Given the description of an element on the screen output the (x, y) to click on. 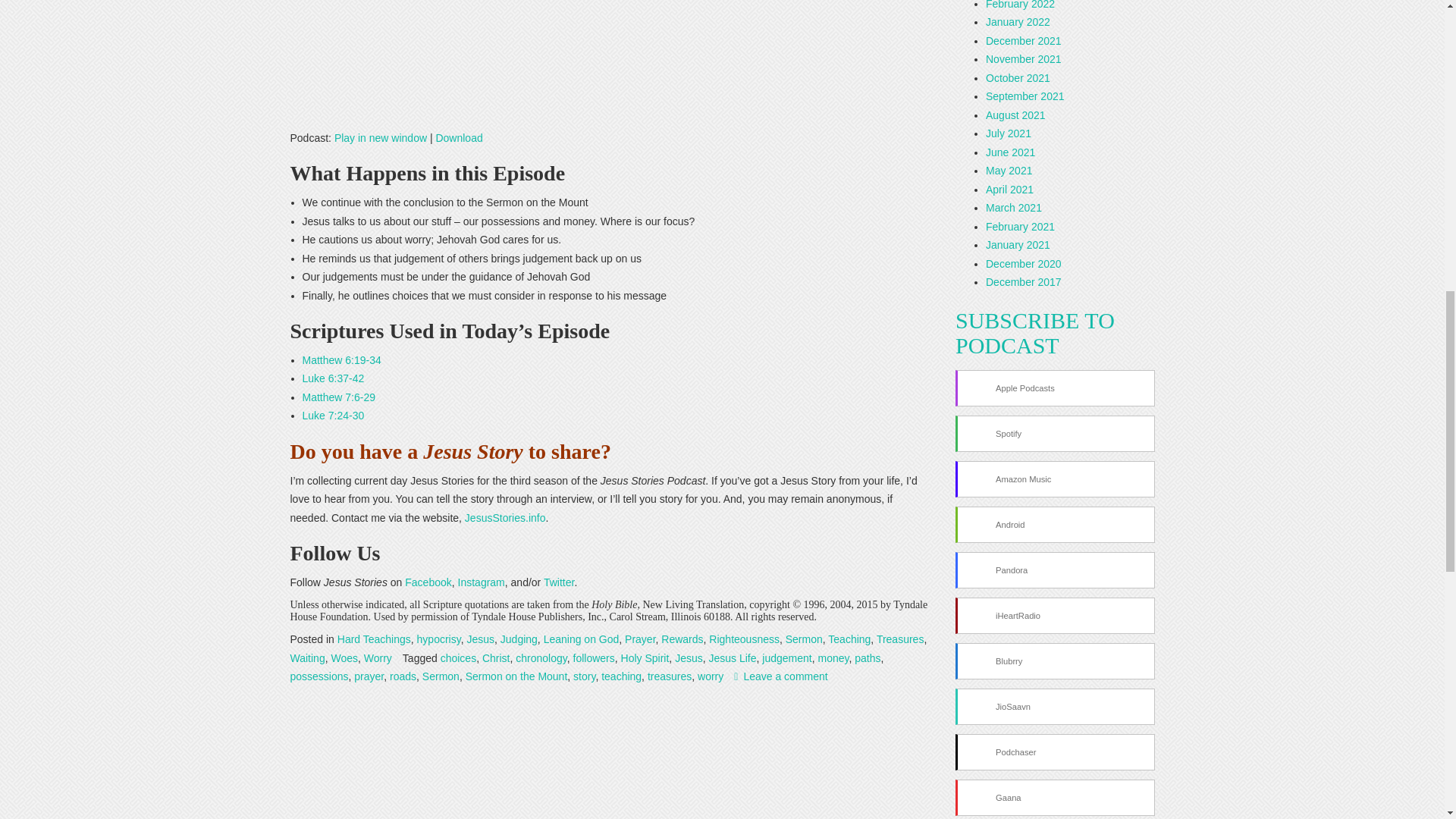
Matthew 6:19-34 (340, 359)
Rewards (682, 639)
Subscribe on Gaana (1054, 797)
Righteousness (743, 639)
Sermon (804, 639)
Subscribe on Amazon Music (1054, 479)
Facebook (427, 582)
Download (458, 137)
Leaning on God (581, 639)
JesusStories.info (505, 517)
